Given the description of an element on the screen output the (x, y) to click on. 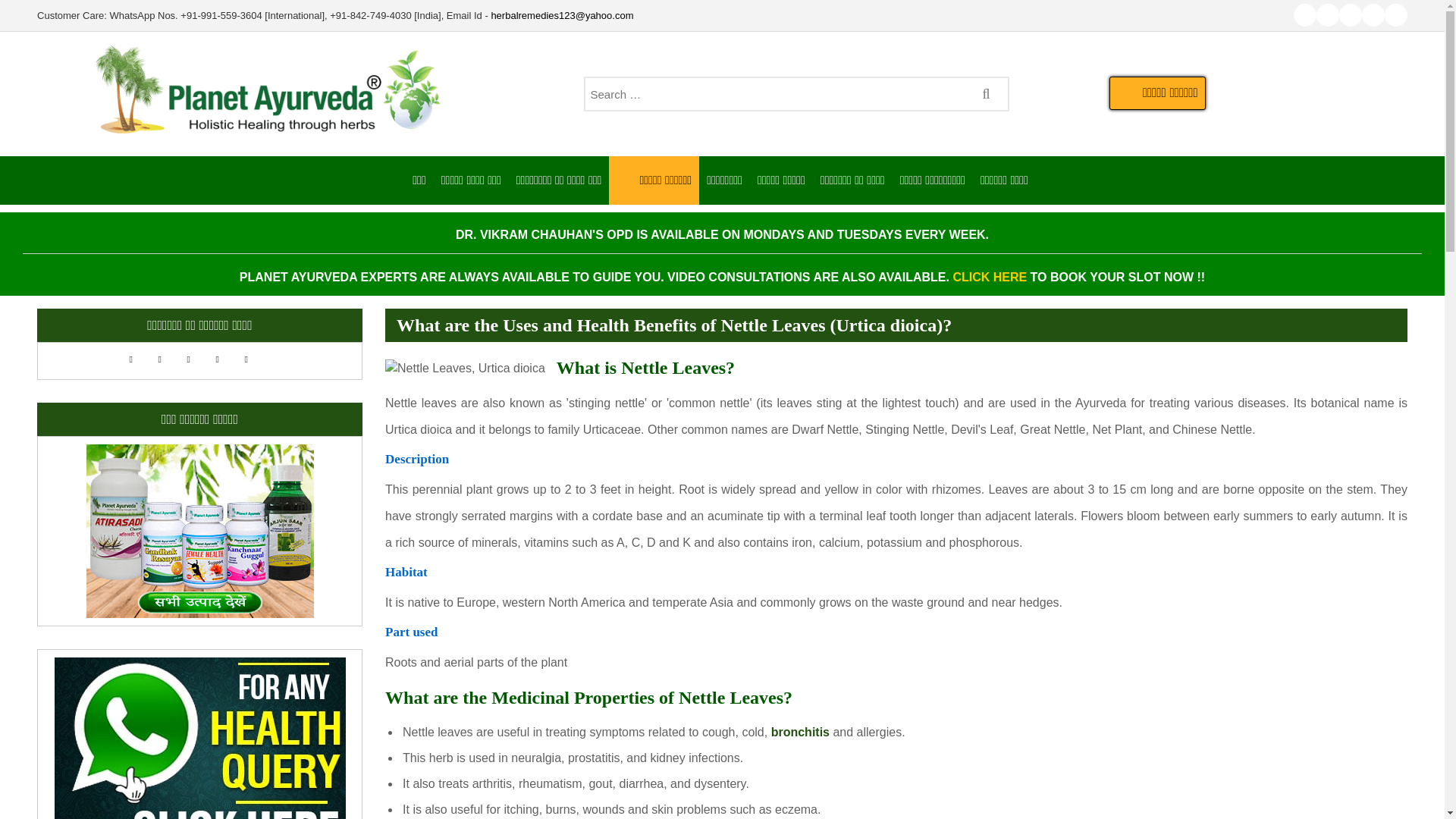
German (196, 357)
English (138, 357)
pinterest (1395, 15)
instagram (1372, 15)
French (167, 357)
bronchitis (800, 784)
CLICK HERE (989, 277)
Facebook (1327, 15)
Youtube (1305, 15)
Twitter (1350, 15)
